Given the description of an element on the screen output the (x, y) to click on. 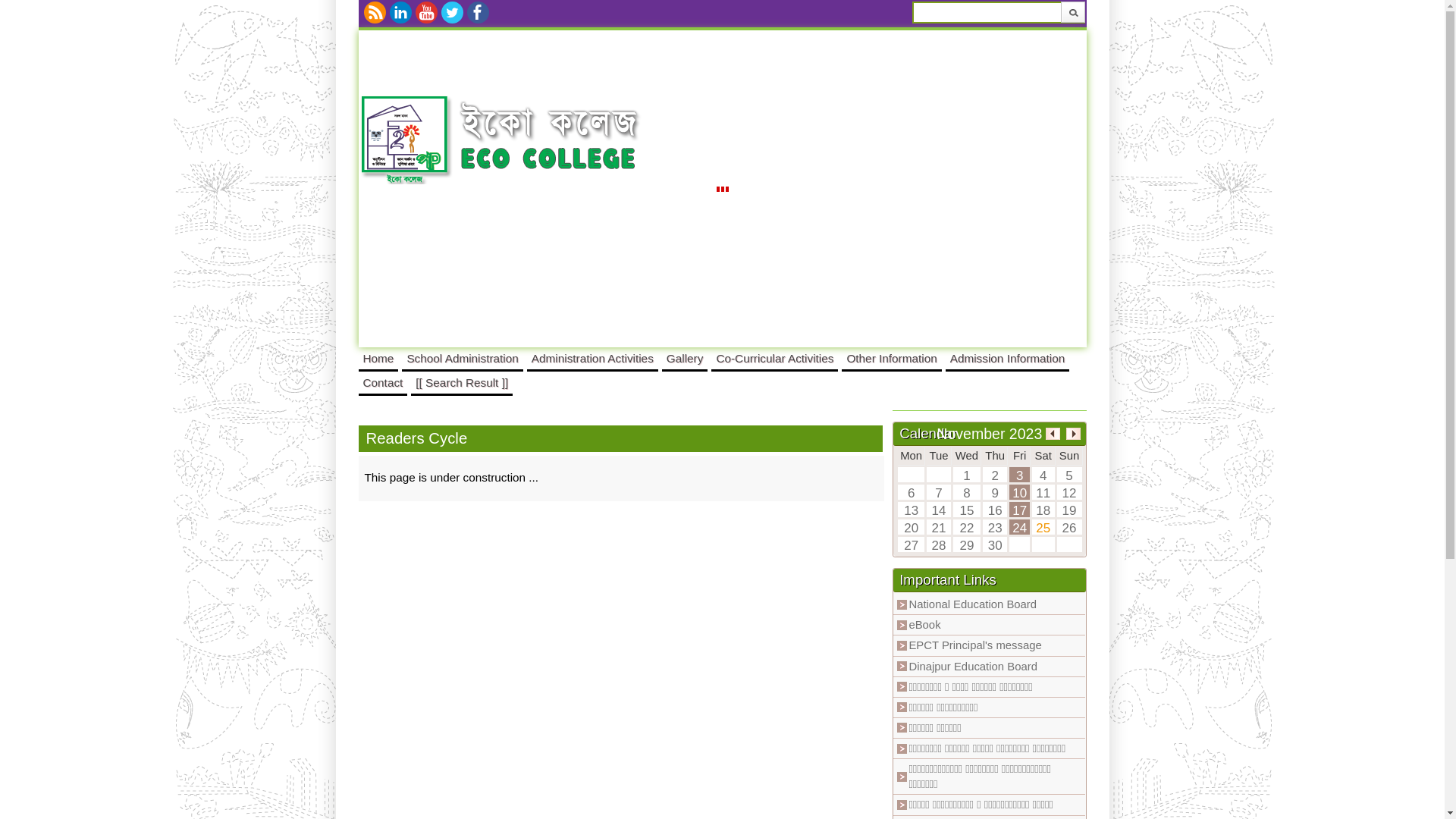
Dinajpur Education Board Element type: text (972, 666)
National Education Board Element type: text (972, 604)
Submit Element type: text (1072, 11)
Administration Activities Element type: text (592, 358)
Admission Information Element type: text (1007, 358)
Home Element type: text (377, 358)
Other Information Element type: text (891, 358)
School Administration Element type: text (461, 358)
[[ Search Result ]] Element type: text (461, 382)
Gallery Element type: text (685, 358)
EPCT Principal's message Element type: text (974, 645)
eBook Element type: text (924, 624)
Co-Curricular Activities Element type: text (774, 358)
Contact Element type: text (382, 382)
